Given the description of an element on the screen output the (x, y) to click on. 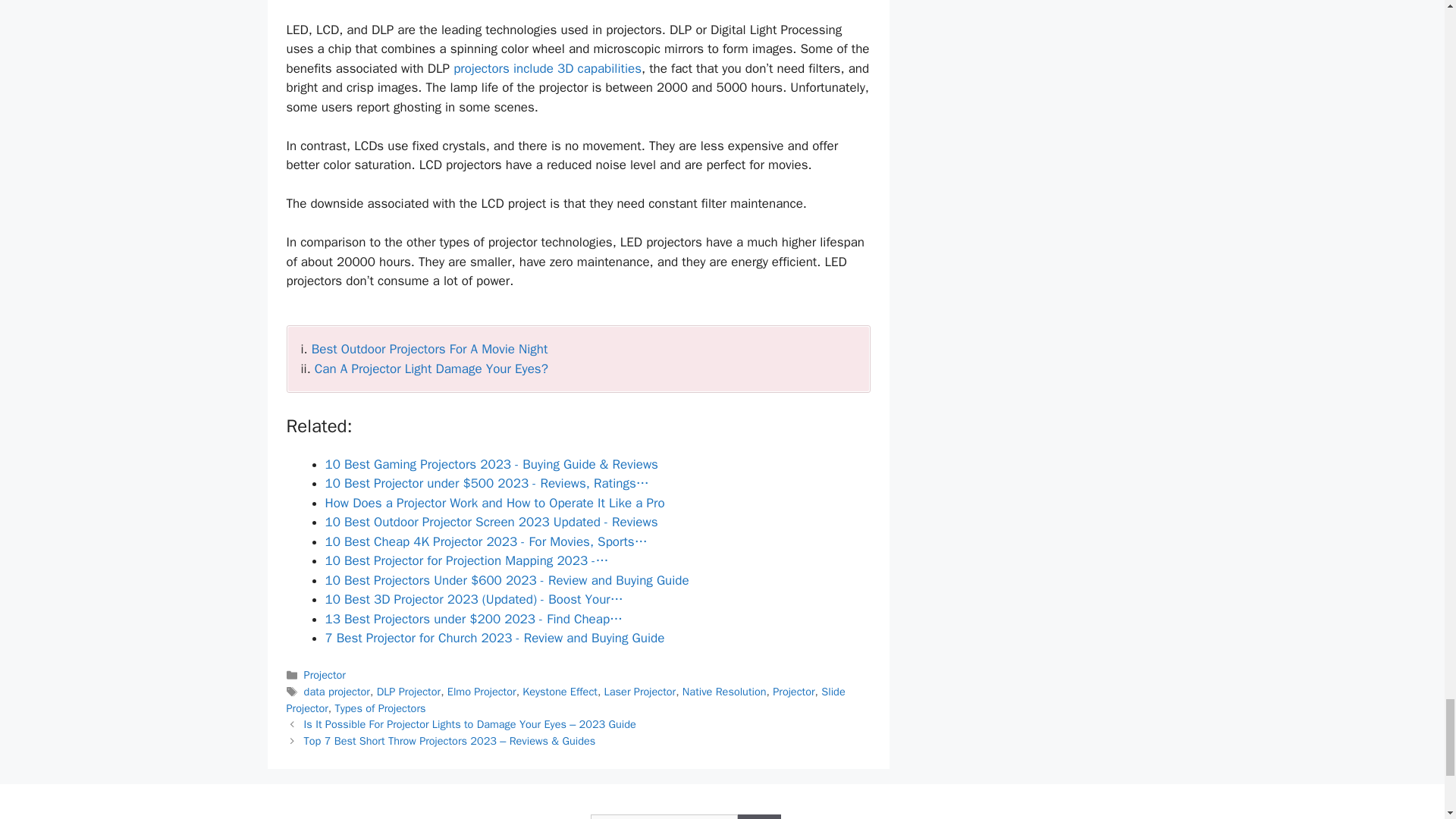
Can A Projector Light Damage Your Eyes? (431, 368)
projectors include 3D capabilities (547, 68)
10 Best Outdoor Projector Screen 2023 Updated - Reviews (491, 521)
Search for: (664, 816)
How Does a Projector Work and How to Operate It Like a Pro (493, 503)
Best Outdoor Projectors For A Movie Night (429, 349)
